Given the description of an element on the screen output the (x, y) to click on. 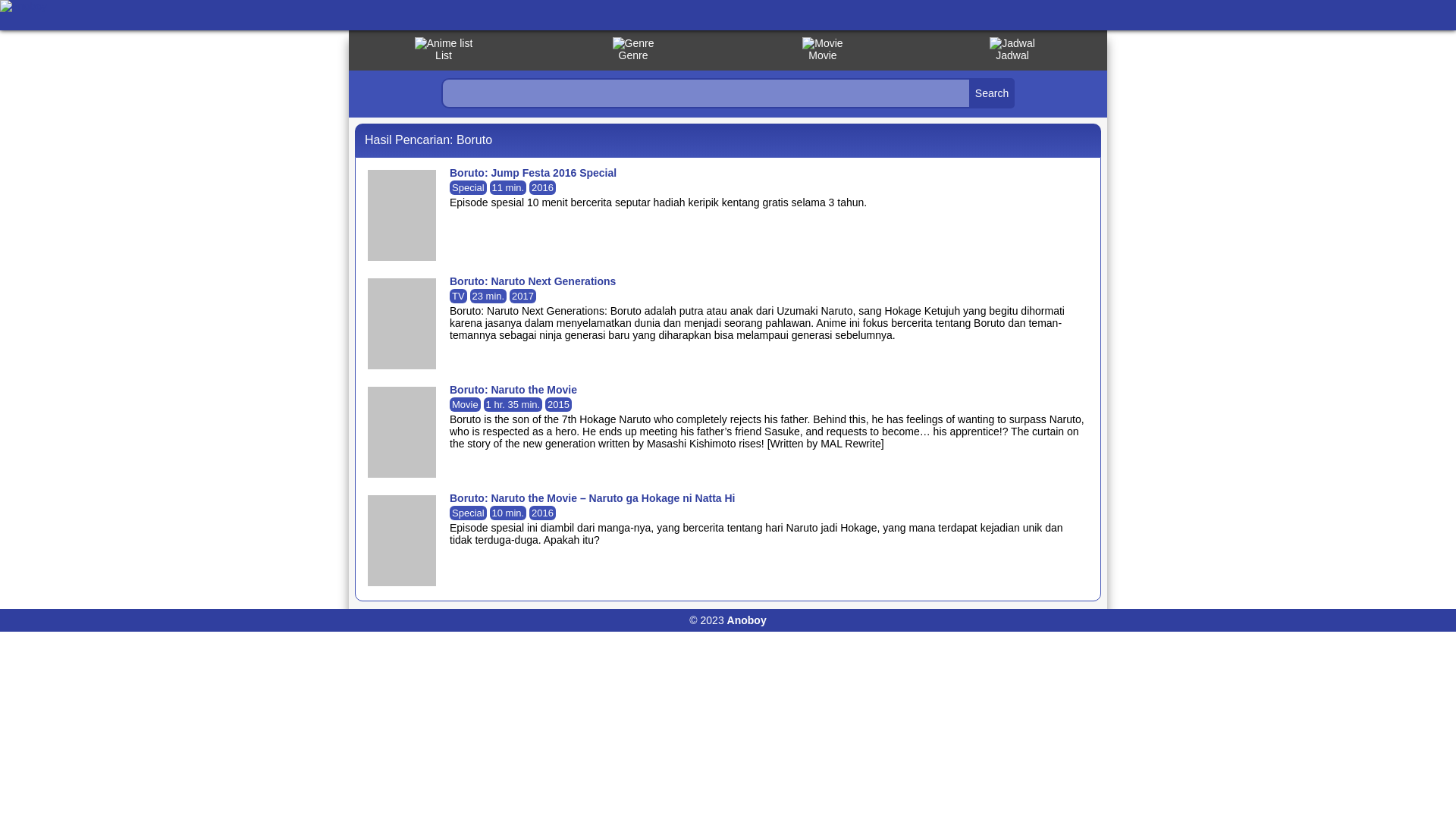
Boruto: Naruto Next Generations Element type: text (532, 281)
Movie Element type: text (822, 50)
Search Element type: text (991, 93)
Boruto: Jump Festa 2016 Special Element type: text (532, 172)
Genre Element type: text (632, 50)
Jadwal Element type: text (1012, 50)
List Element type: text (443, 50)
Boruto: Naruto the Movie Element type: text (513, 389)
